Given the description of an element on the screen output the (x, y) to click on. 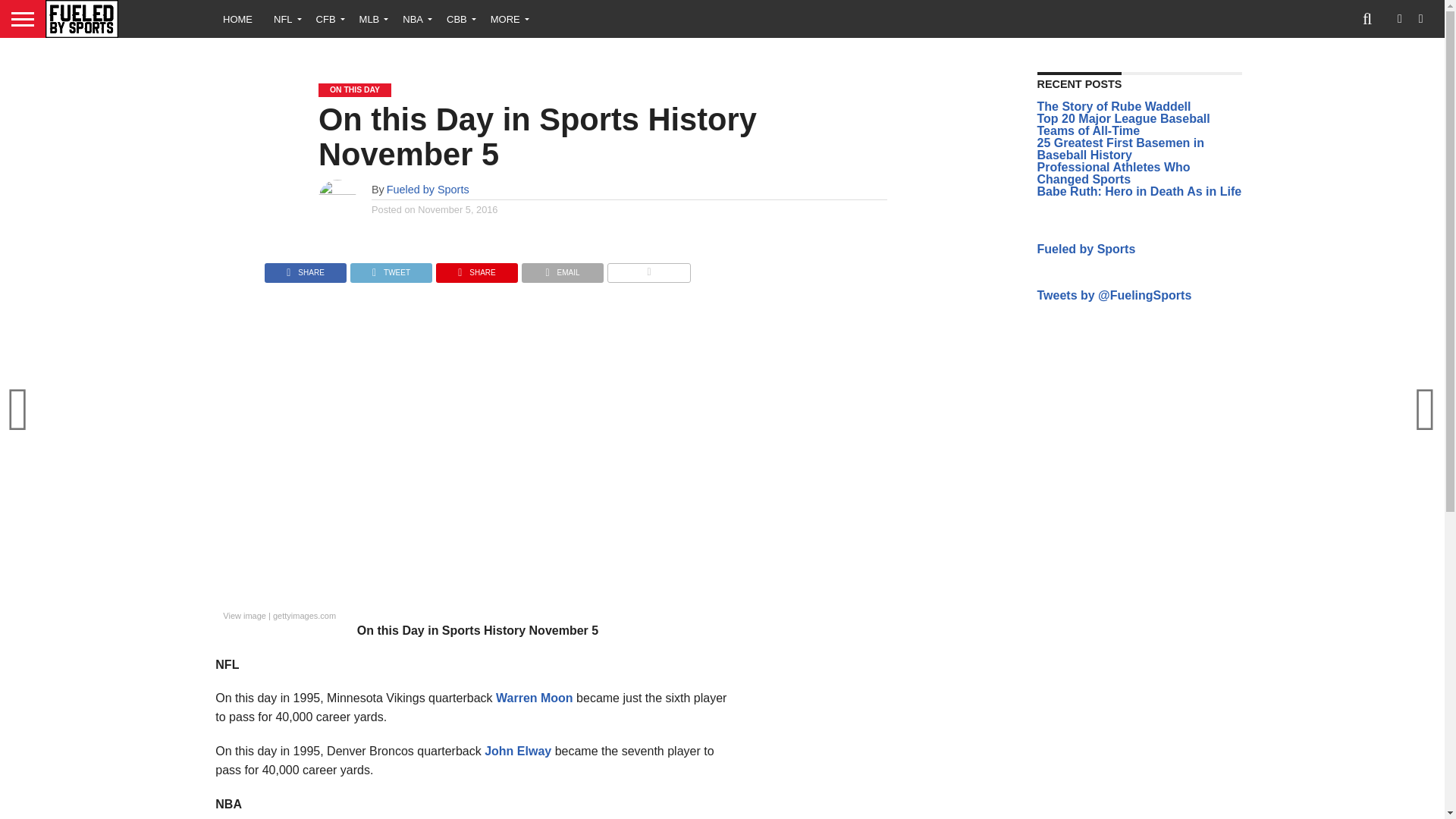
Share on Facebook (305, 268)
Posts by Fueled by Sports (427, 189)
Pin This Post (476, 268)
Tweet This Post (390, 268)
